Given the description of an element on the screen output the (x, y) to click on. 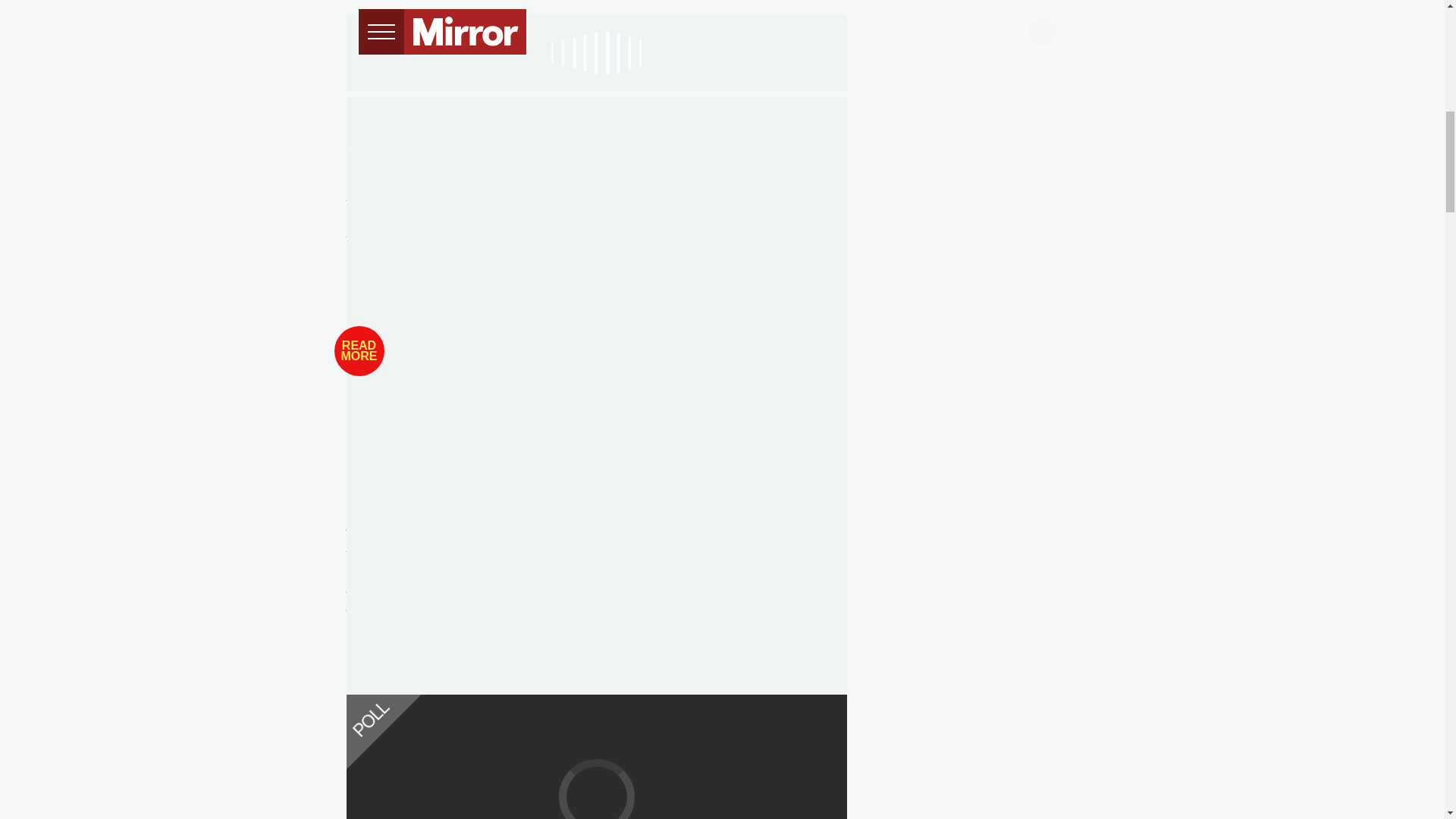
Daily Mail (375, 433)
Chelsea (621, 105)
Frank Lampard (392, 105)
